Given the description of an element on the screen output the (x, y) to click on. 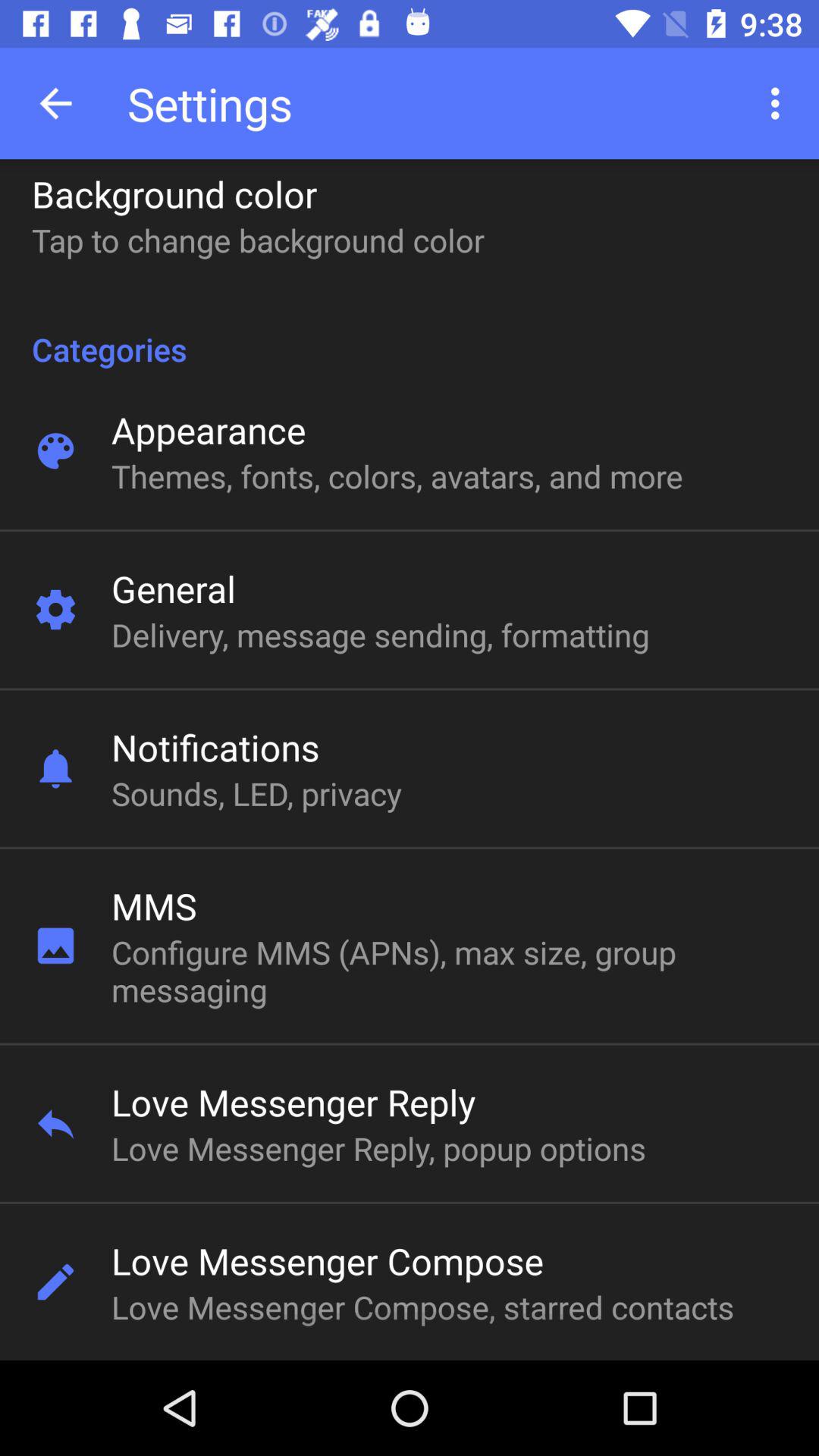
launch the configure mms apns icon (397, 970)
